Given the description of an element on the screen output the (x, y) to click on. 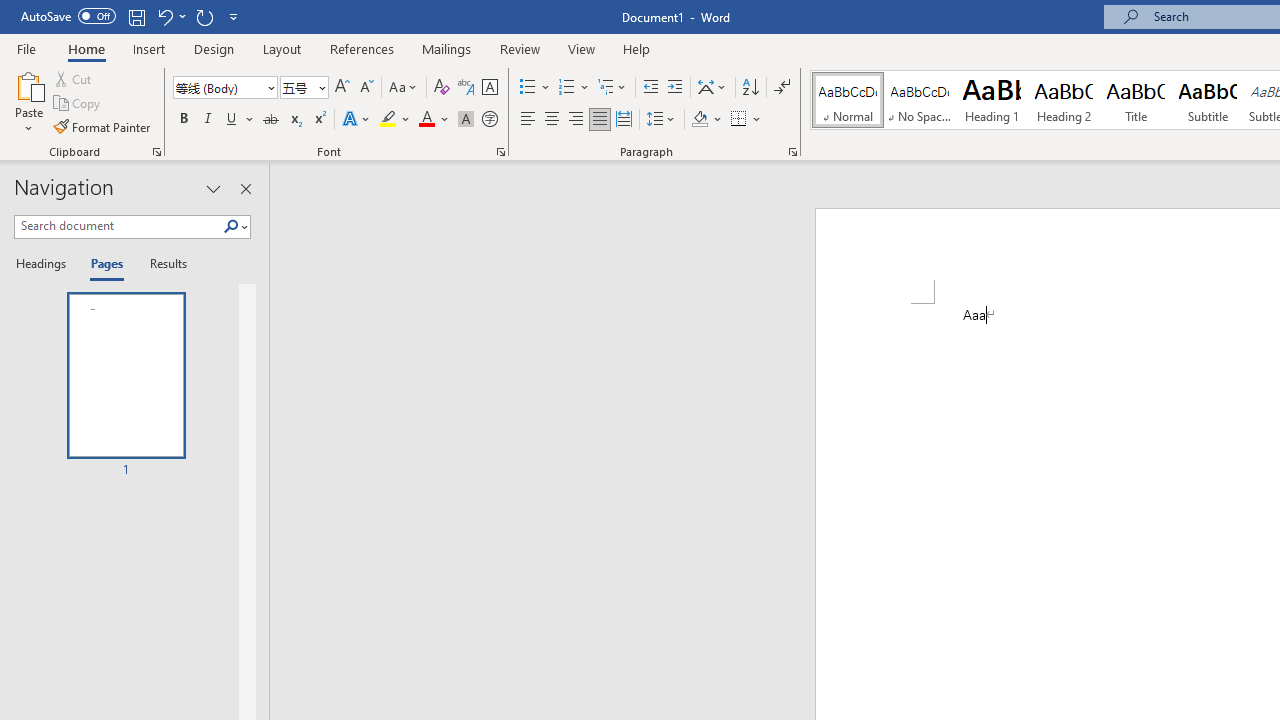
Open (320, 87)
Font Size (304, 87)
Bullets (527, 87)
Numbering (573, 87)
Paste (28, 84)
Font (224, 87)
Class: NetUIImage (231, 226)
Layout (282, 48)
Bold (183, 119)
Search (235, 227)
Text Highlight Color (395, 119)
Customize Quick Access Toolbar (234, 15)
Text Highlight Color Yellow (388, 119)
Task Pane Options (214, 188)
Design (214, 48)
